Given the description of an element on the screen output the (x, y) to click on. 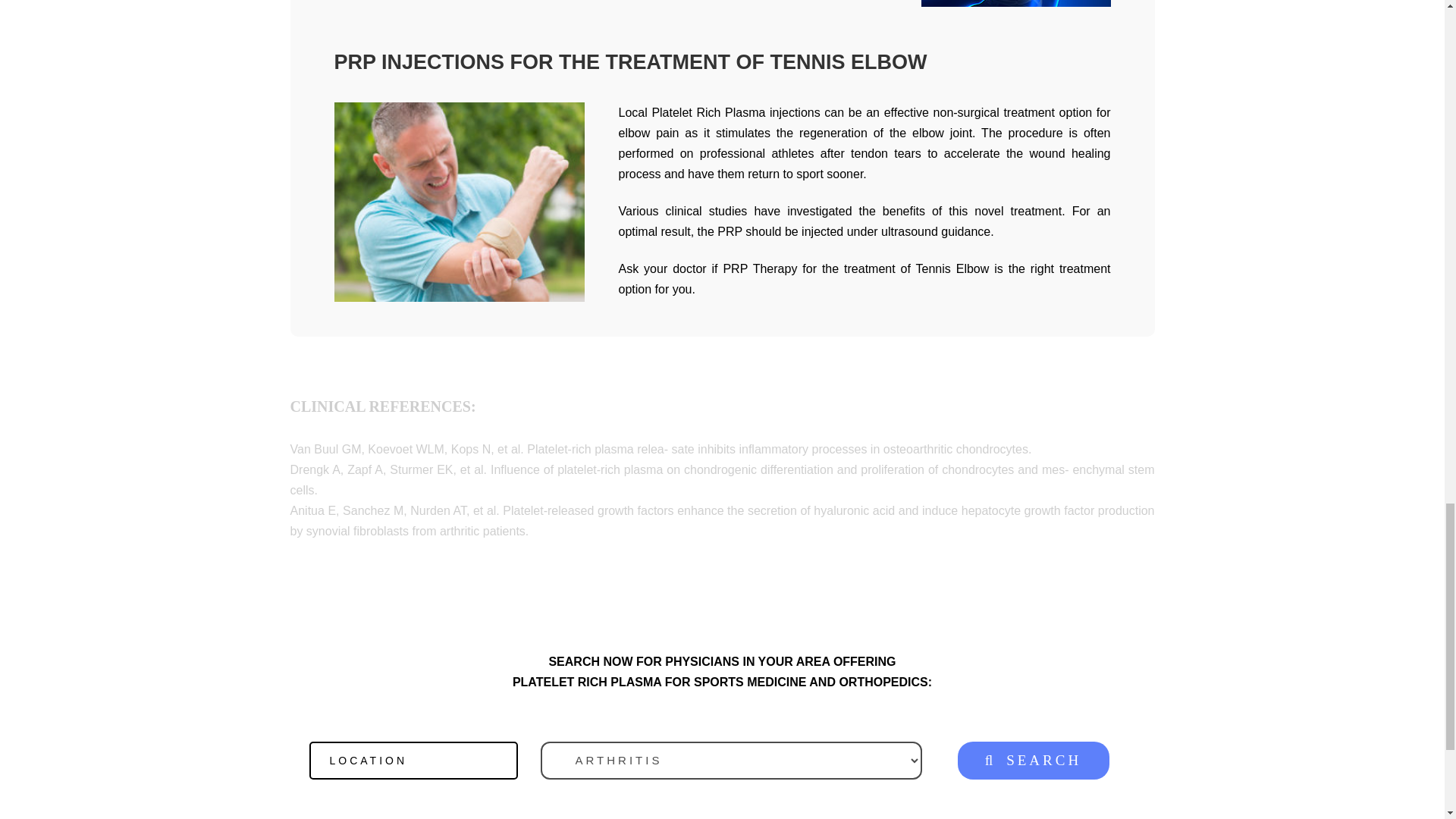
SEARCH (1032, 760)
